Given the description of an element on the screen output the (x, y) to click on. 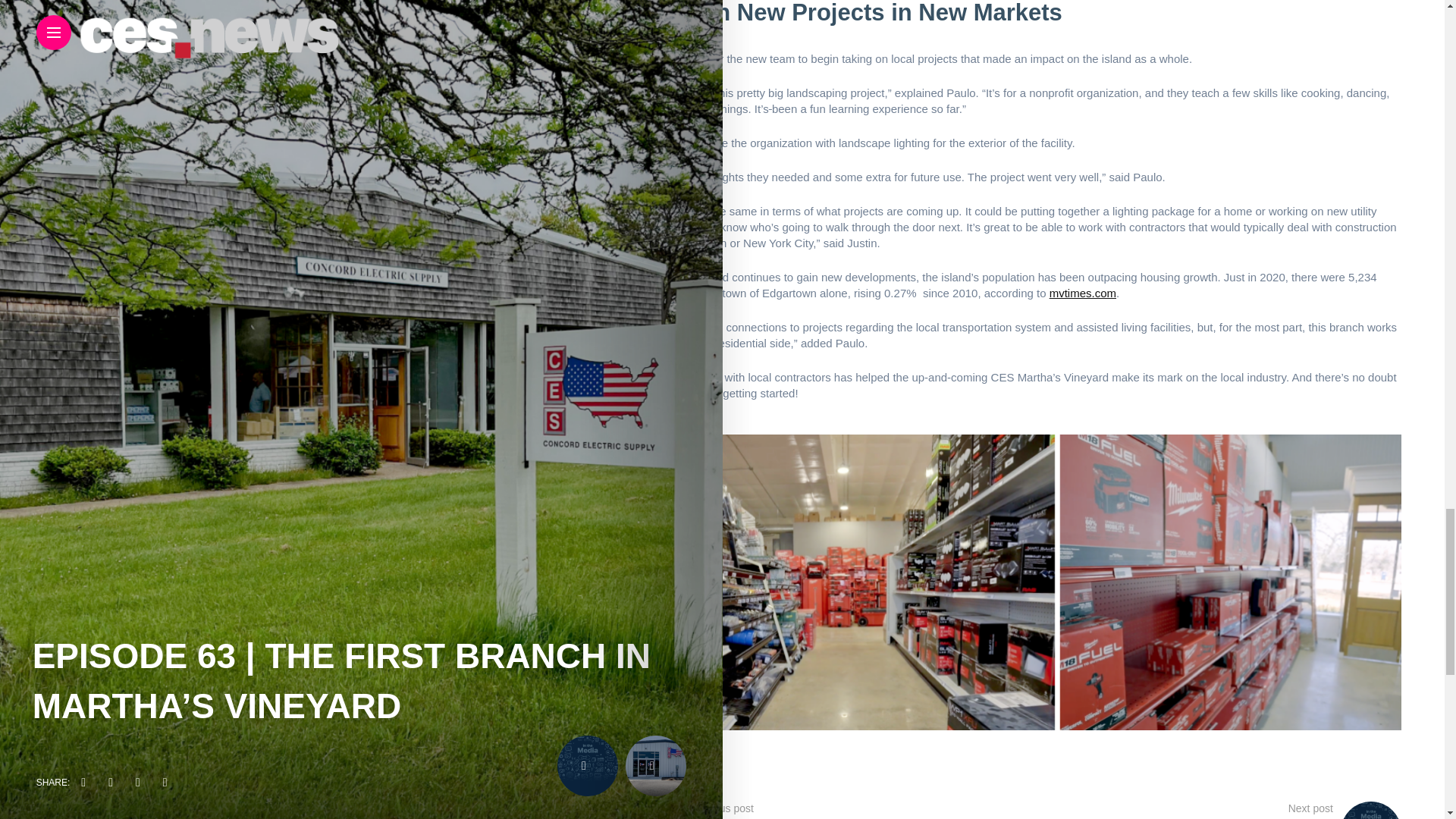
mvtimes.com (1082, 292)
